Given the description of an element on the screen output the (x, y) to click on. 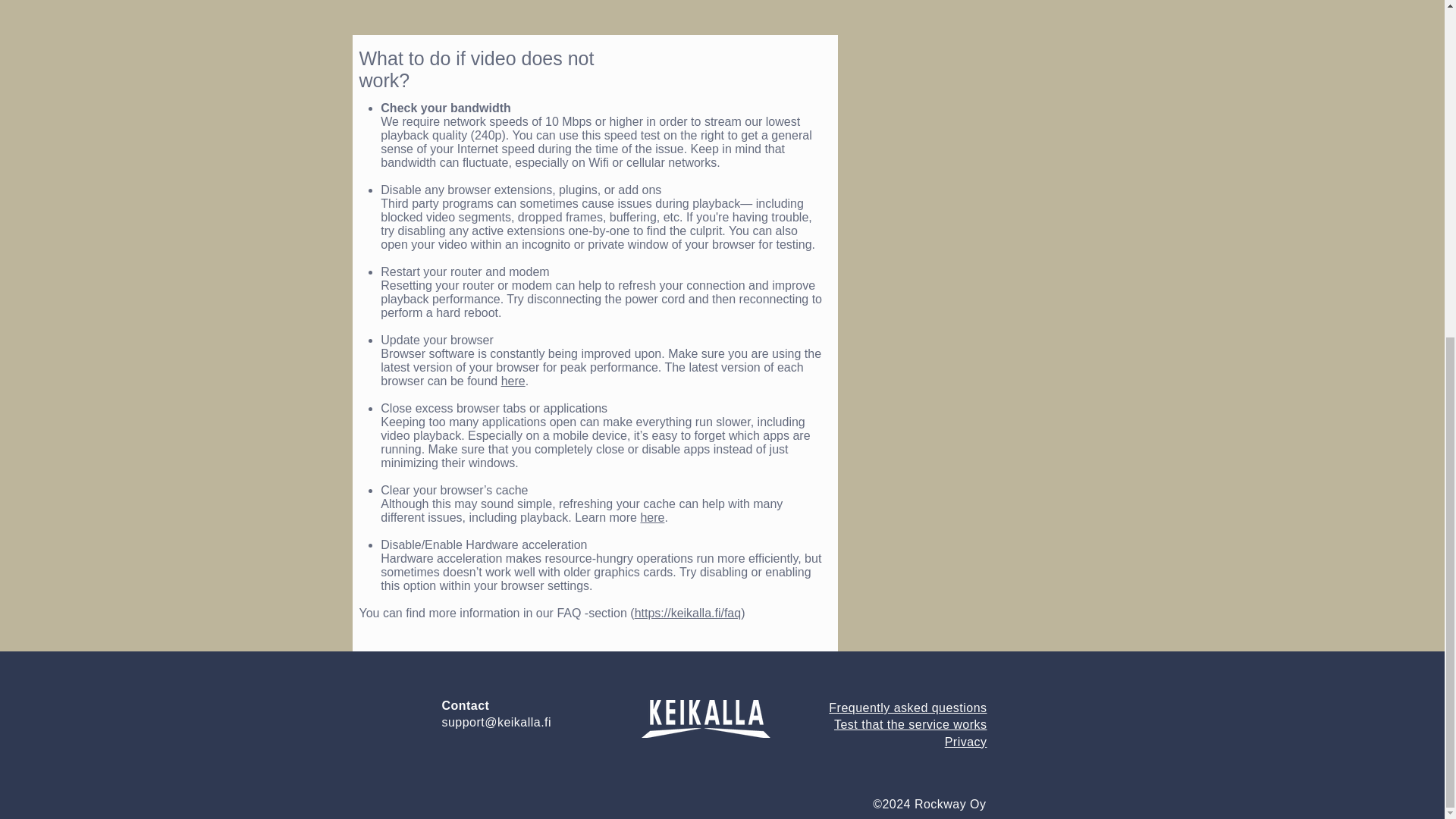
here (907, 716)
here (651, 517)
Privacy (512, 380)
